Given the description of an element on the screen output the (x, y) to click on. 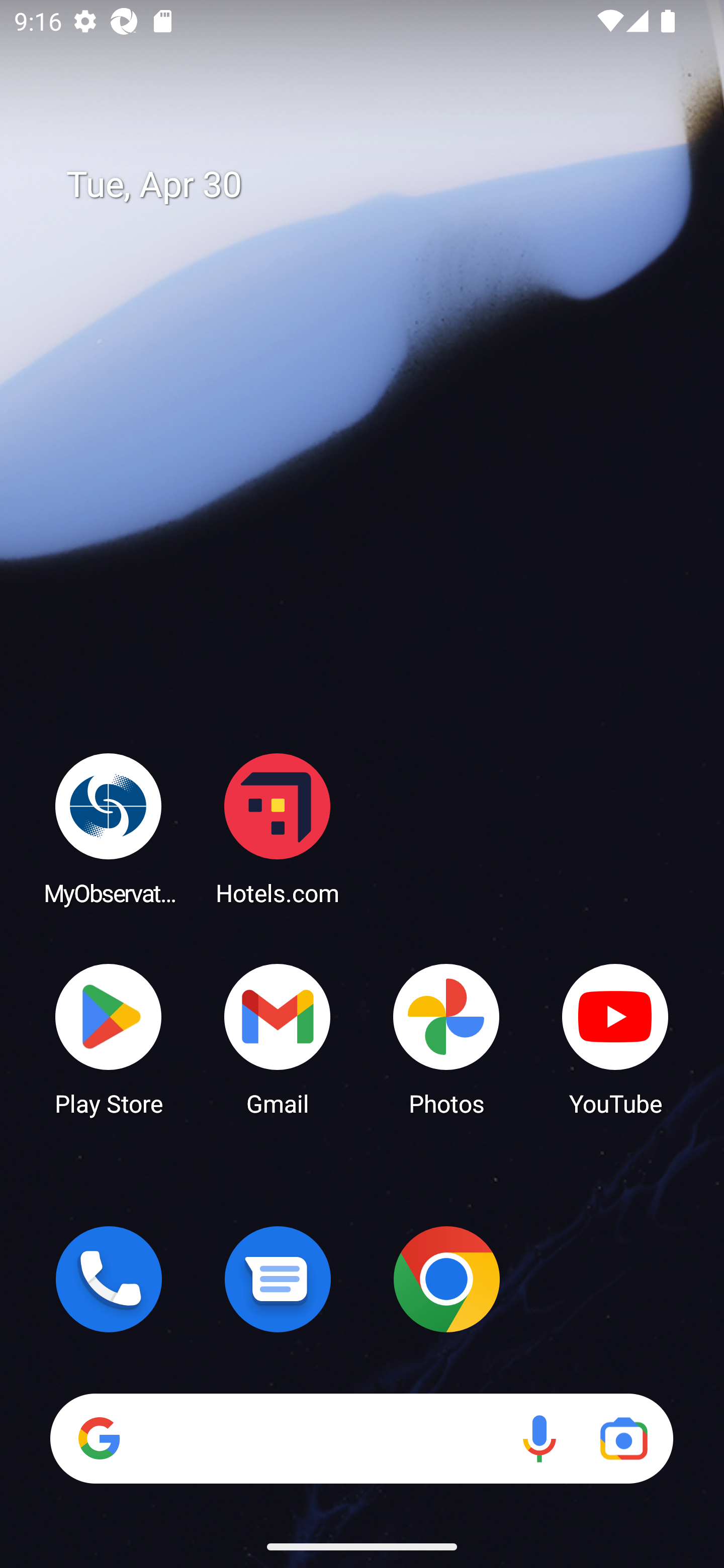
Tue, Apr 30 (375, 184)
MyObservatory (108, 828)
Hotels.com (277, 828)
Play Store (108, 1038)
Gmail (277, 1038)
Photos (445, 1038)
YouTube (615, 1038)
Phone (108, 1279)
Messages (277, 1279)
Chrome (446, 1279)
Voice search (539, 1438)
Google Lens (623, 1438)
